Given the description of an element on the screen output the (x, y) to click on. 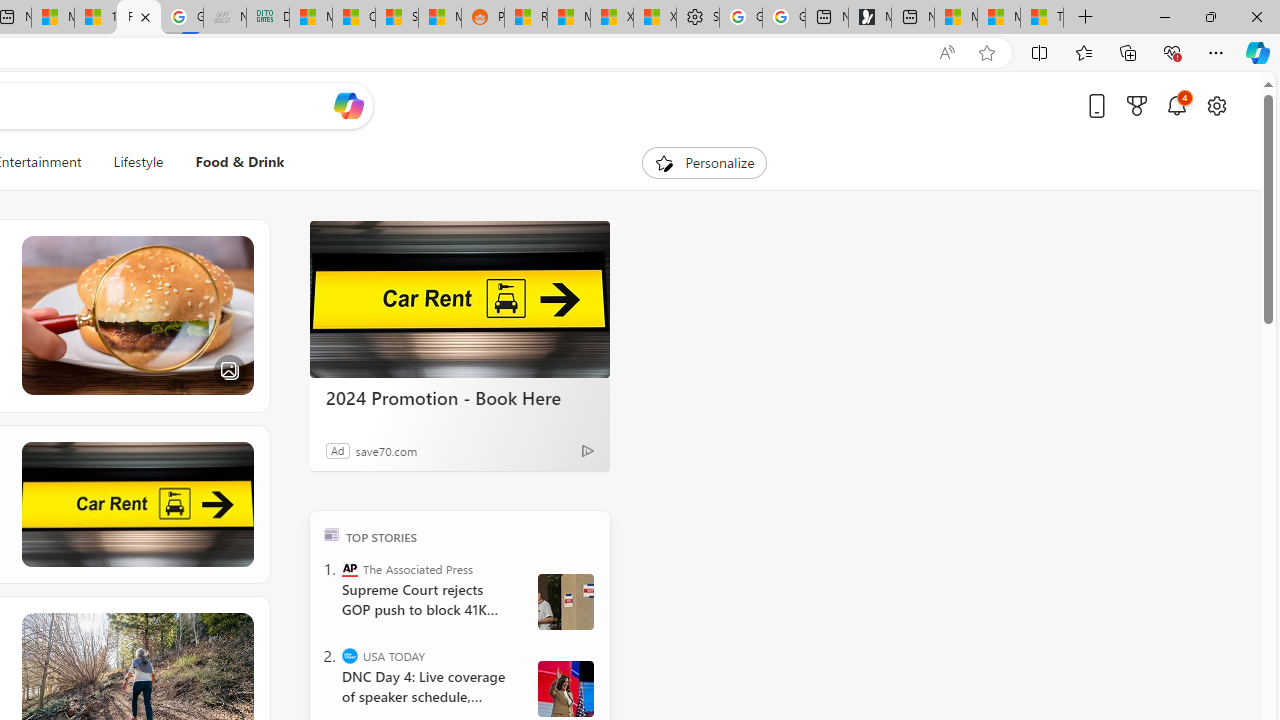
2024 Special Rates - Book Now. (136, 504)
14 Common Myths Debunked By Scientific Facts (95, 17)
save70.com (386, 450)
TOP (331, 534)
2024 Promotion - Book Here (459, 397)
